Given the description of an element on the screen output the (x, y) to click on. 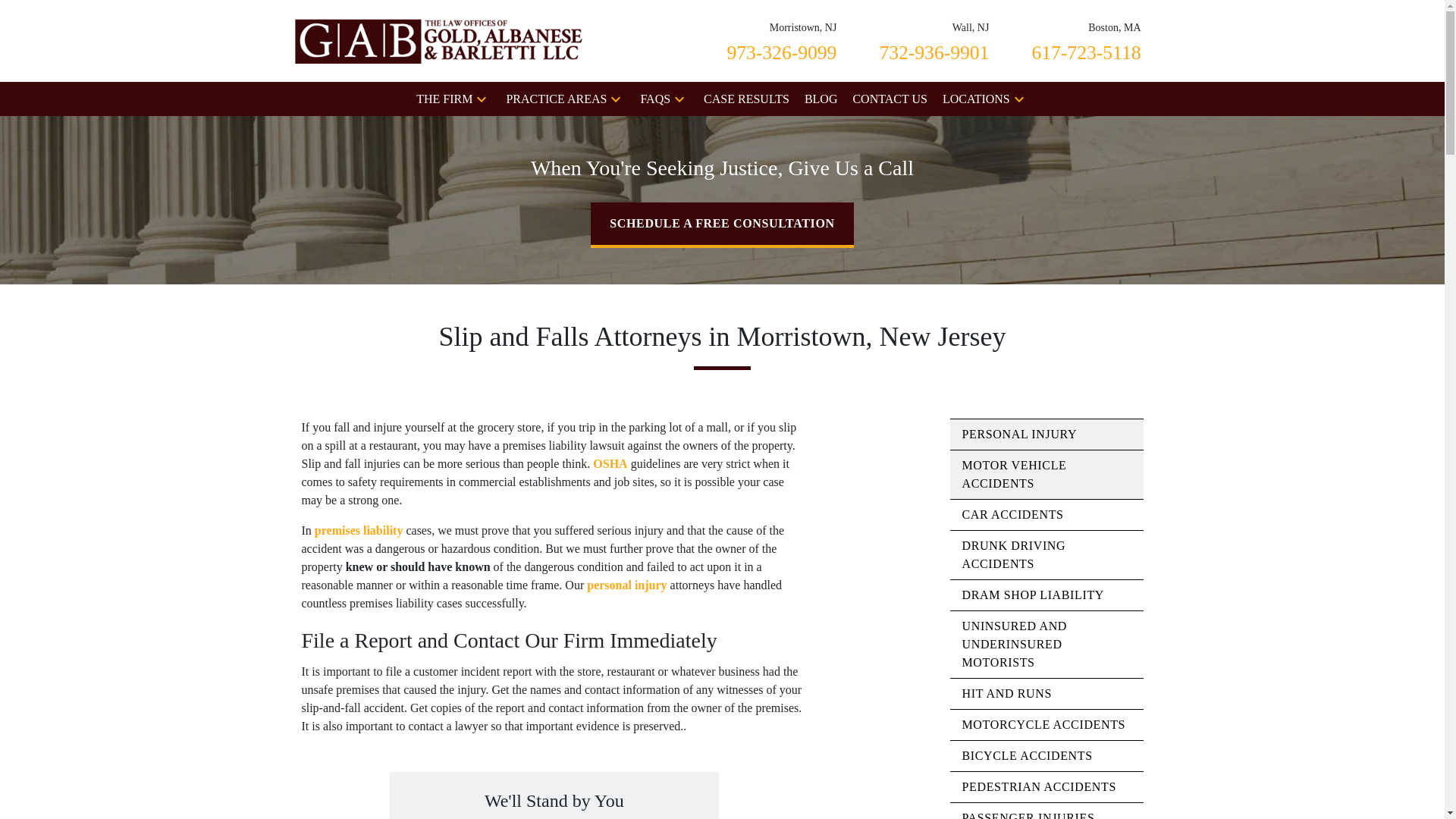
PRACTICE AREAS (781, 40)
THE FIRM (556, 99)
